Given the description of an element on the screen output the (x, y) to click on. 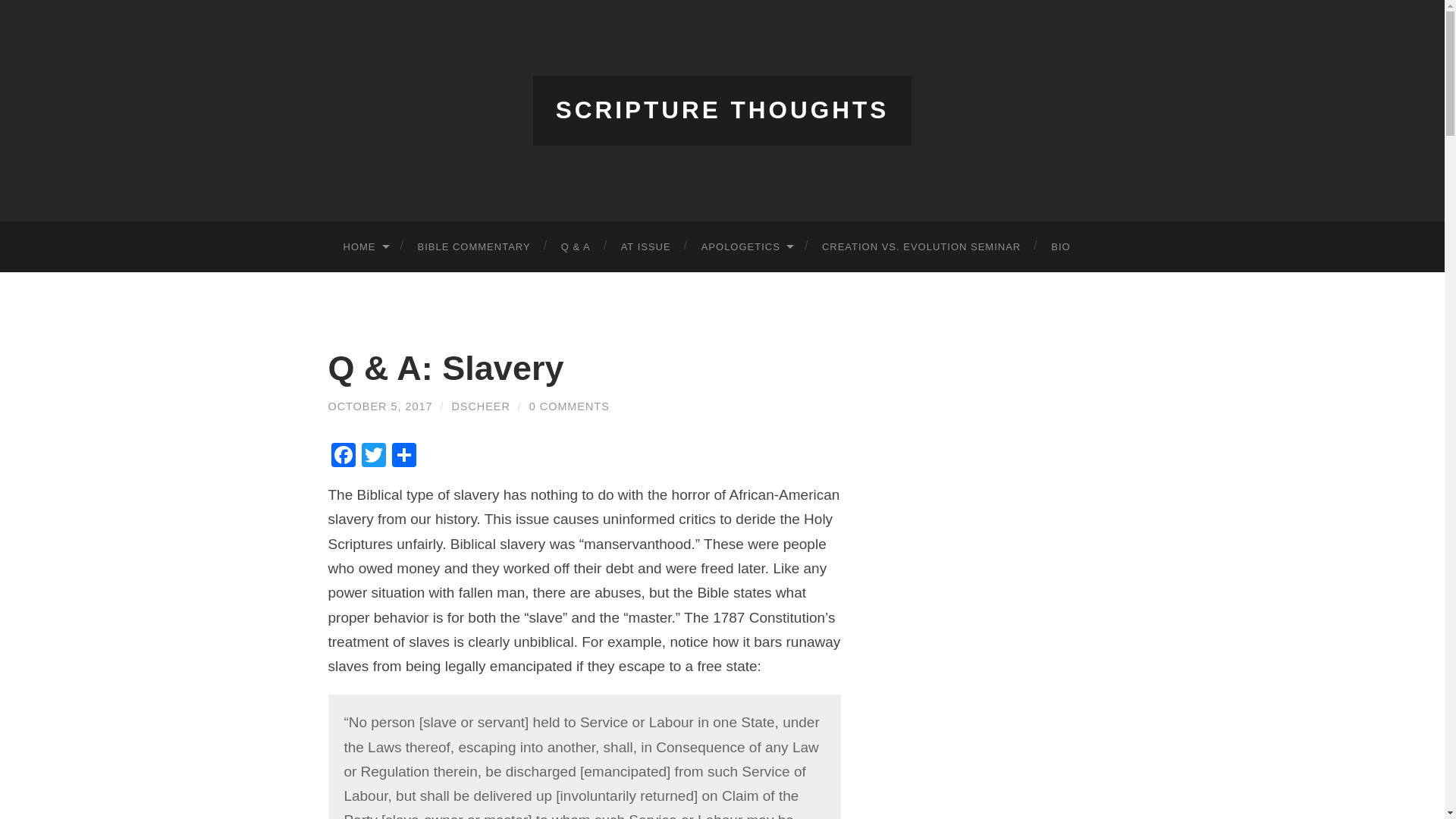
AT ISSUE (645, 246)
BIBLE COMMENTARY (472, 246)
Posts by dscheer (480, 406)
SCRIPTURE THOUGHTS (722, 109)
Twitter (373, 456)
Twitter (373, 456)
Facebook (342, 456)
HOME (364, 246)
CREATION VS. EVOLUTION SEMINAR (920, 246)
DSCHEER (480, 406)
